Given the description of an element on the screen output the (x, y) to click on. 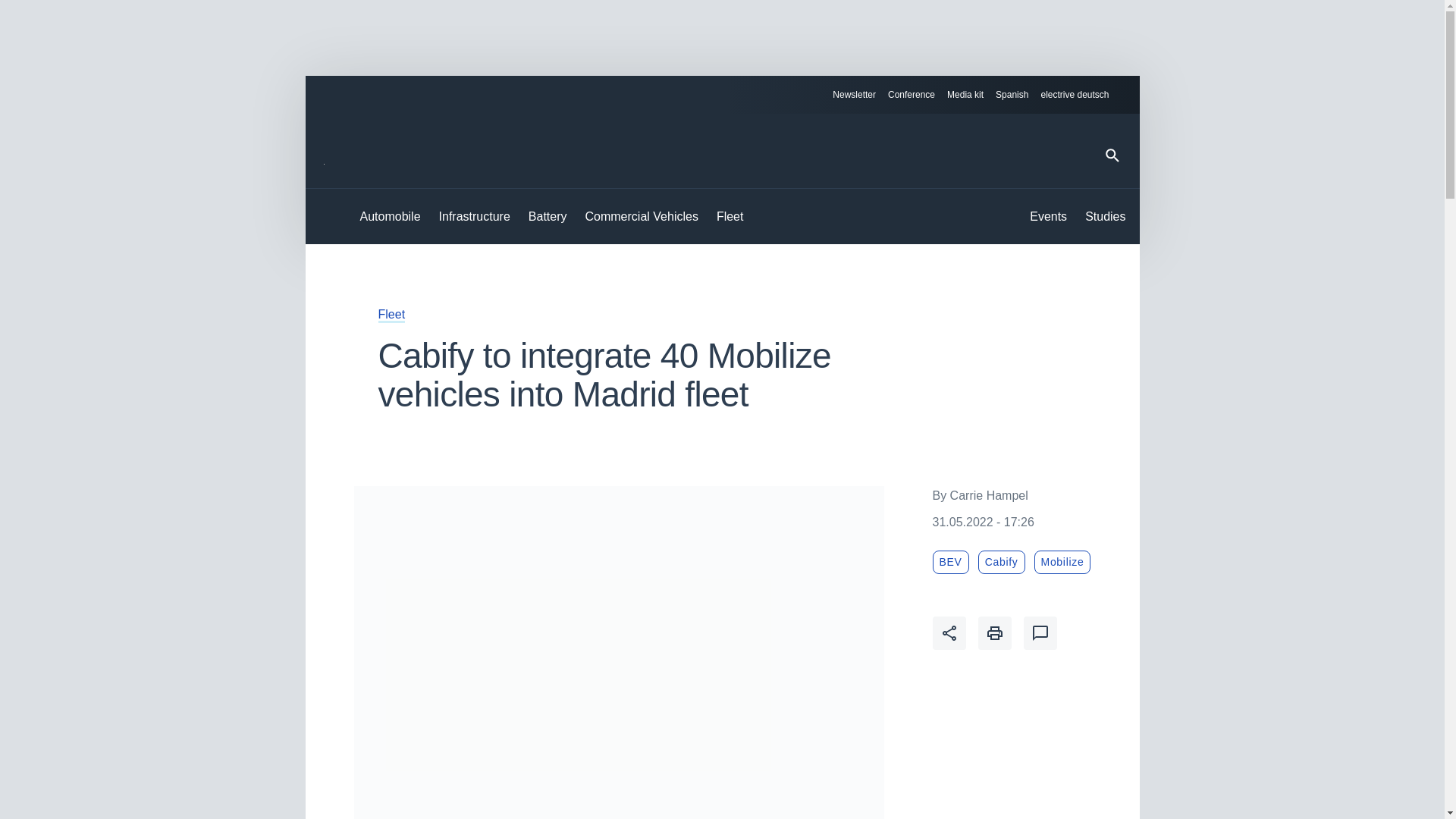
BEV (951, 562)
Mobilize (1061, 562)
Conference (911, 95)
Kommentare (1040, 633)
electrive deutsch (1081, 95)
Fleet (390, 314)
Studies (1104, 217)
Spanish (1011, 95)
Teilen (949, 633)
Automobile (389, 217)
